Given the description of an element on the screen output the (x, y) to click on. 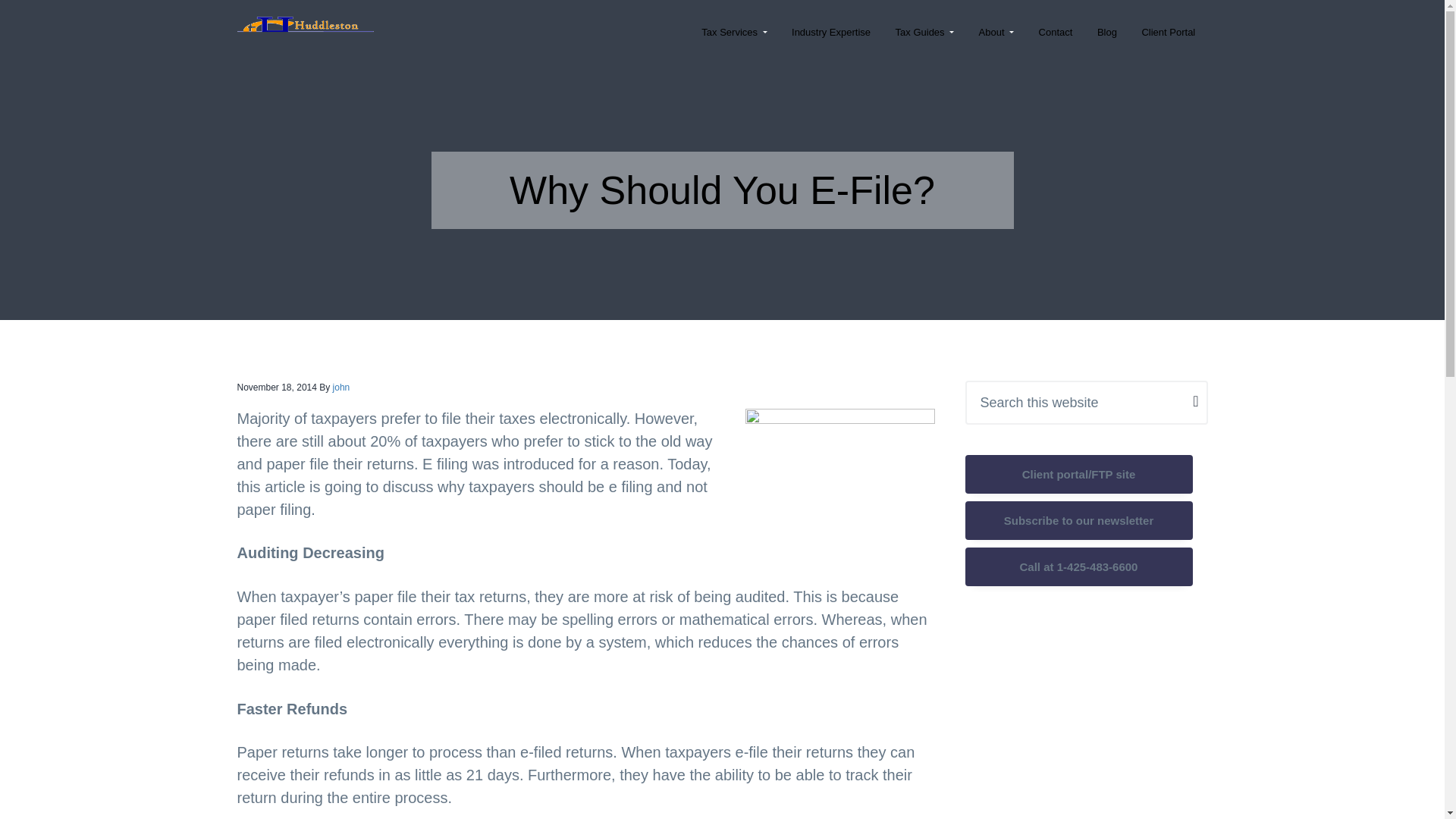
john (341, 387)
Call at 1-425-483-6600 (1077, 566)
Blog (1106, 31)
Contact (1055, 31)
Subscribe to our newsletter (1077, 520)
Tax Services (733, 31)
Tax Guides (924, 31)
Subscribe to our newsletter (1077, 520)
About (996, 31)
Call at 1-425-483-6600 (1077, 566)
